Given the description of an element on the screen output the (x, y) to click on. 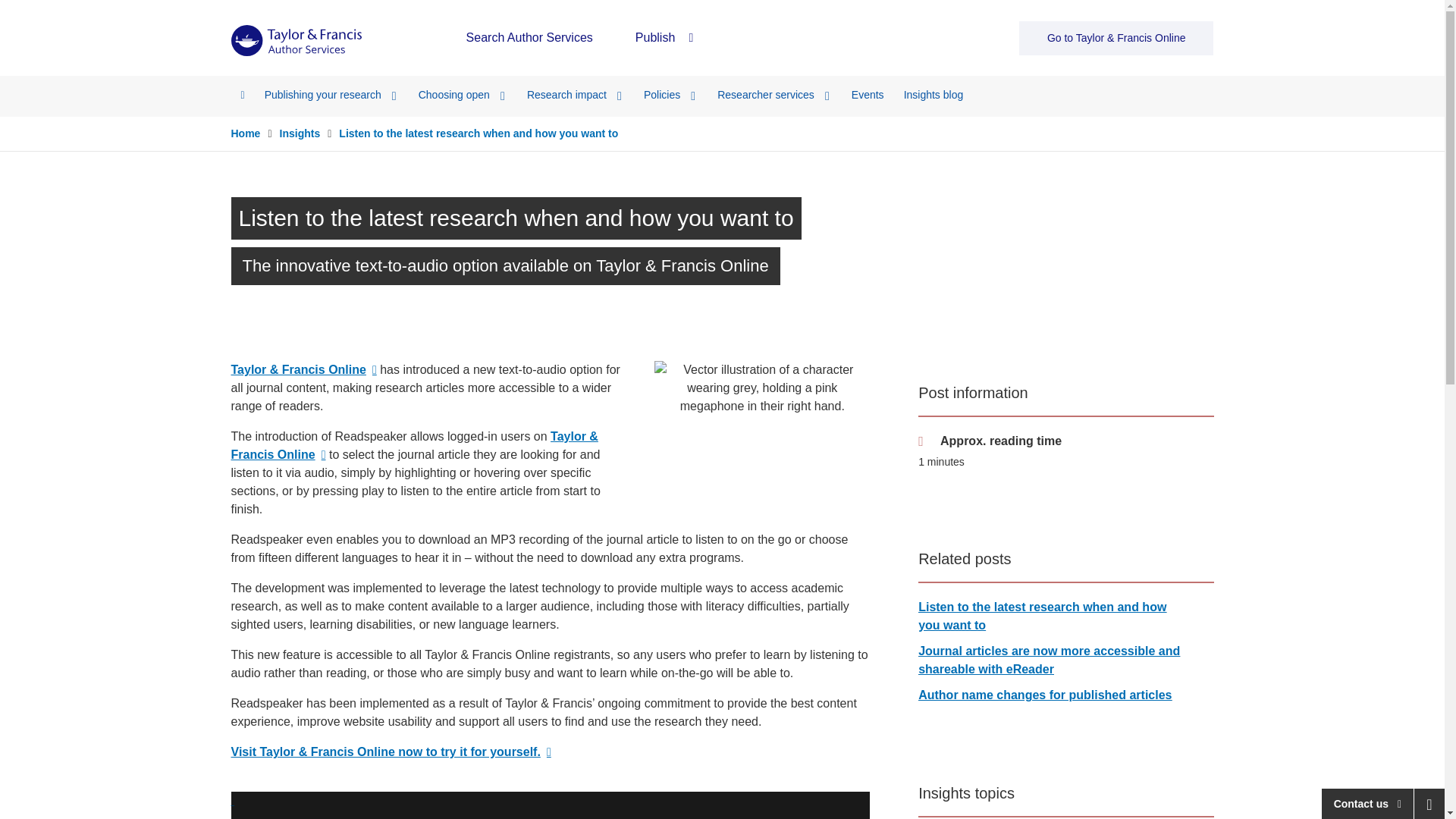
Menu item - Research impact (574, 94)
Menu item - Policies (670, 94)
Choosing open (462, 94)
Menu item - Insights blog (933, 94)
Research impact (574, 94)
Search Author Services (528, 38)
Publishing your research (331, 94)
Menu item - Publishing your research (331, 94)
Menu item - Researcher services (774, 94)
Menu item - Events (867, 94)
Search Author Services (528, 38)
Menu item - Choosing open (462, 94)
